Given the description of an element on the screen output the (x, y) to click on. 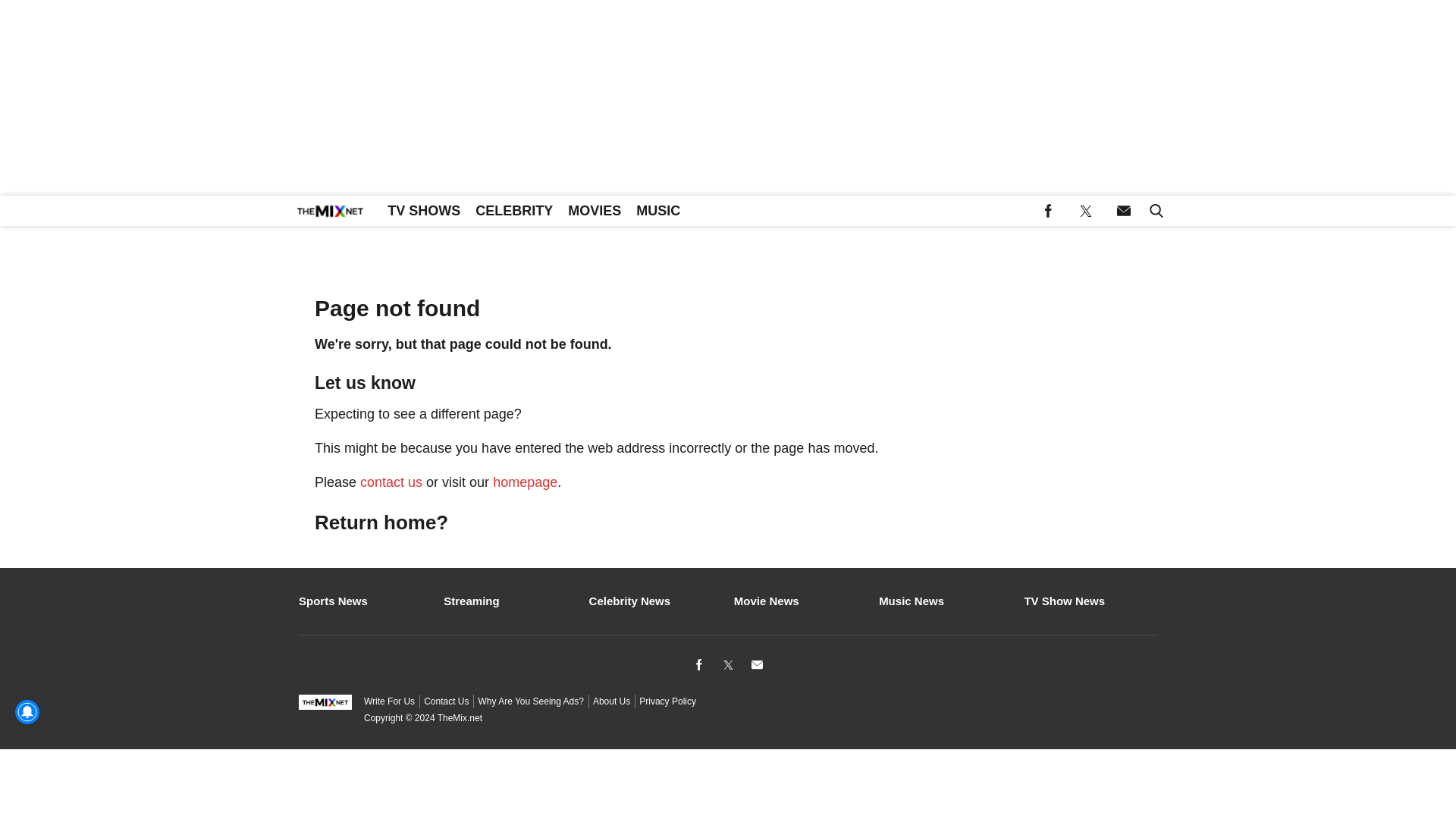
Follow us on Twitter (1086, 210)
TV SHOWS (423, 210)
About Us (611, 701)
Privacy Policy (667, 701)
Follow us on Facebook (1048, 210)
MUSIC (657, 210)
MOVIES (594, 210)
Sports News (364, 600)
Why Are You Seeing Ads? (530, 701)
CELEBRITY (513, 210)
